Given the description of an element on the screen output the (x, y) to click on. 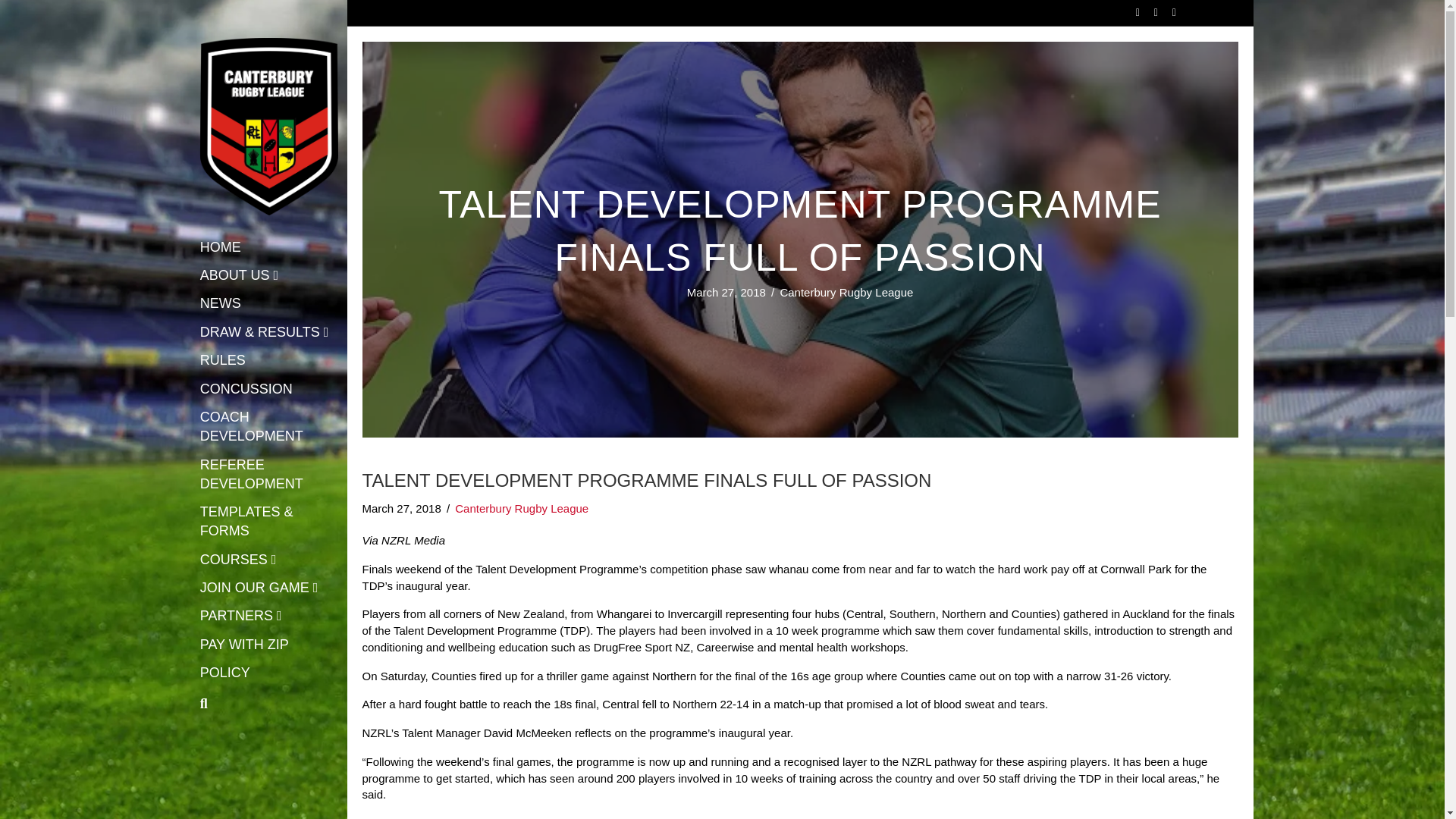
ABOUT US (239, 277)
COACH DEVELOPMENT (269, 428)
Facebook (1130, 11)
HOME (220, 249)
COURSES (238, 561)
Email (1166, 11)
Canterbury Rugby League (521, 508)
CONCUSSION (246, 391)
Youtube (1148, 11)
RULES (222, 362)
PARTNERS (240, 617)
JOIN OUR GAME (258, 589)
Canterbury Rugby League (845, 291)
REFEREE DEVELOPMENT (269, 476)
PAY WITH ZIP (244, 646)
